Given the description of an element on the screen output the (x, y) to click on. 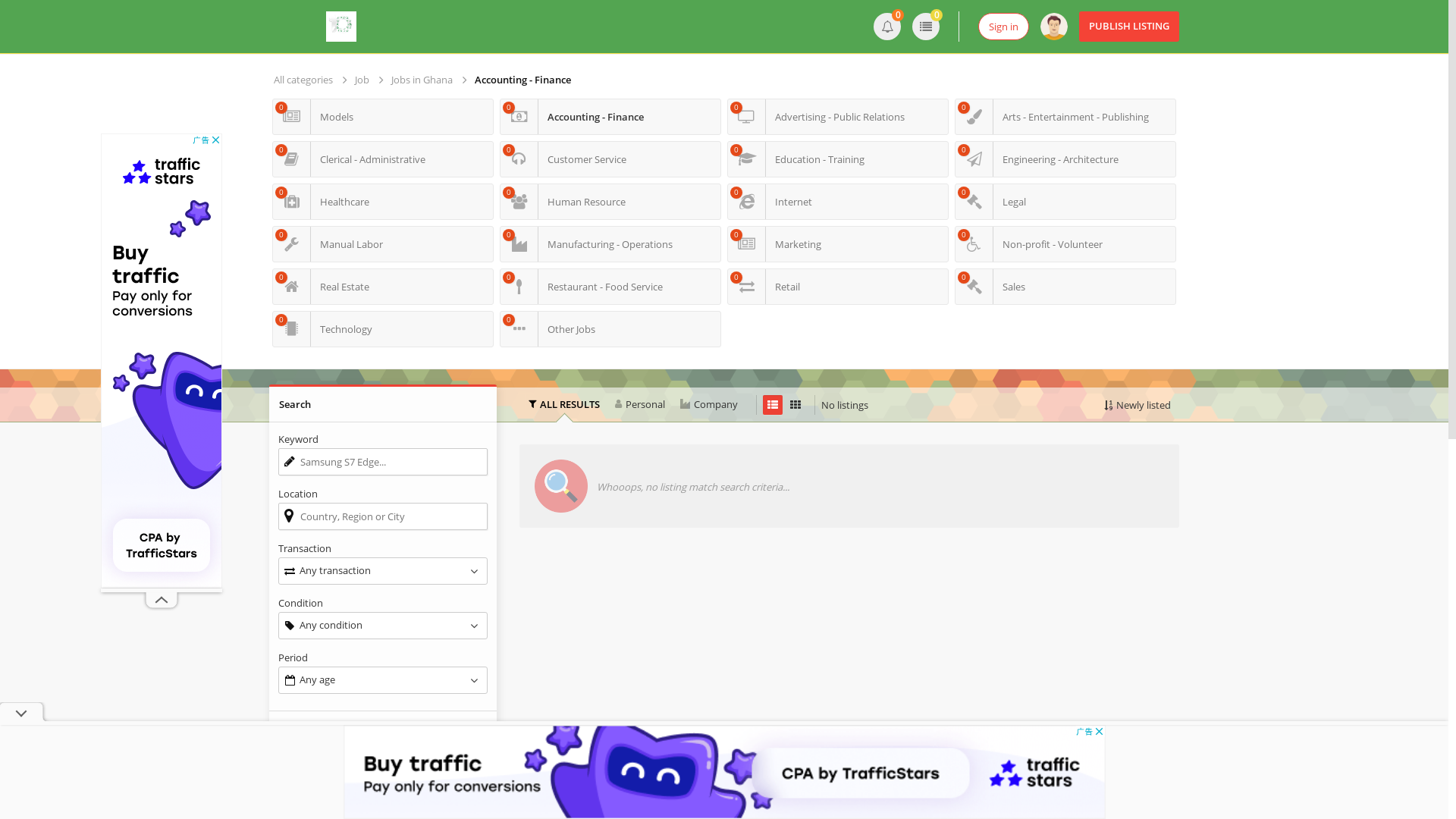
Job Element type: text (368, 79)
Restaurant - Food Service
0 Element type: text (610, 286)
Accounting - Finance Element type: text (529, 79)
All categories Element type: text (310, 79)
Human Resource
0 Element type: text (610, 201)
Real Estate
0 Element type: text (382, 286)
Education - Training
0 Element type: text (837, 159)
Legal
0 Element type: text (1065, 201)
Other Jobs
0 Element type: text (610, 328)
Switch to grid view Element type: hover (795, 404)
Retail
0 Element type: text (837, 286)
Manual Labor
0 Element type: text (382, 243)
Accounting - Finance
0 Element type: text (610, 116)
Clerical - Administrative
0 Element type: text (382, 159)
Marketing
0 Element type: text (837, 243)
Switch to list view Element type: hover (772, 404)
Engineering - Architecture
0 Element type: text (1065, 159)
Sign in Element type: text (1003, 26)
Sales
0 Element type: text (1065, 286)
Arts - Entertainment - Publishing
0 Element type: text (1065, 116)
Jobs in Ghana Element type: text (429, 79)
0 Element type: text (886, 26)
Healthcare
0 Element type: text (382, 201)
Advertisement Element type: hover (161, 360)
Customer Service
0 Element type: text (610, 159)
Advertising - Public Relations
0 Element type: text (837, 116)
Models
0 Element type: text (382, 116)
PUBLISH LISTING Element type: text (1129, 26)
Internet
0 Element type: text (837, 201)
Technology
0 Element type: text (382, 328)
Advertisement Element type: hover (849, 667)
0 Element type: text (925, 26)
Manufacturing - Operations
0 Element type: text (610, 243)
Non-profit - Volunteer
0 Element type: text (1065, 243)
